Given the description of an element on the screen output the (x, y) to click on. 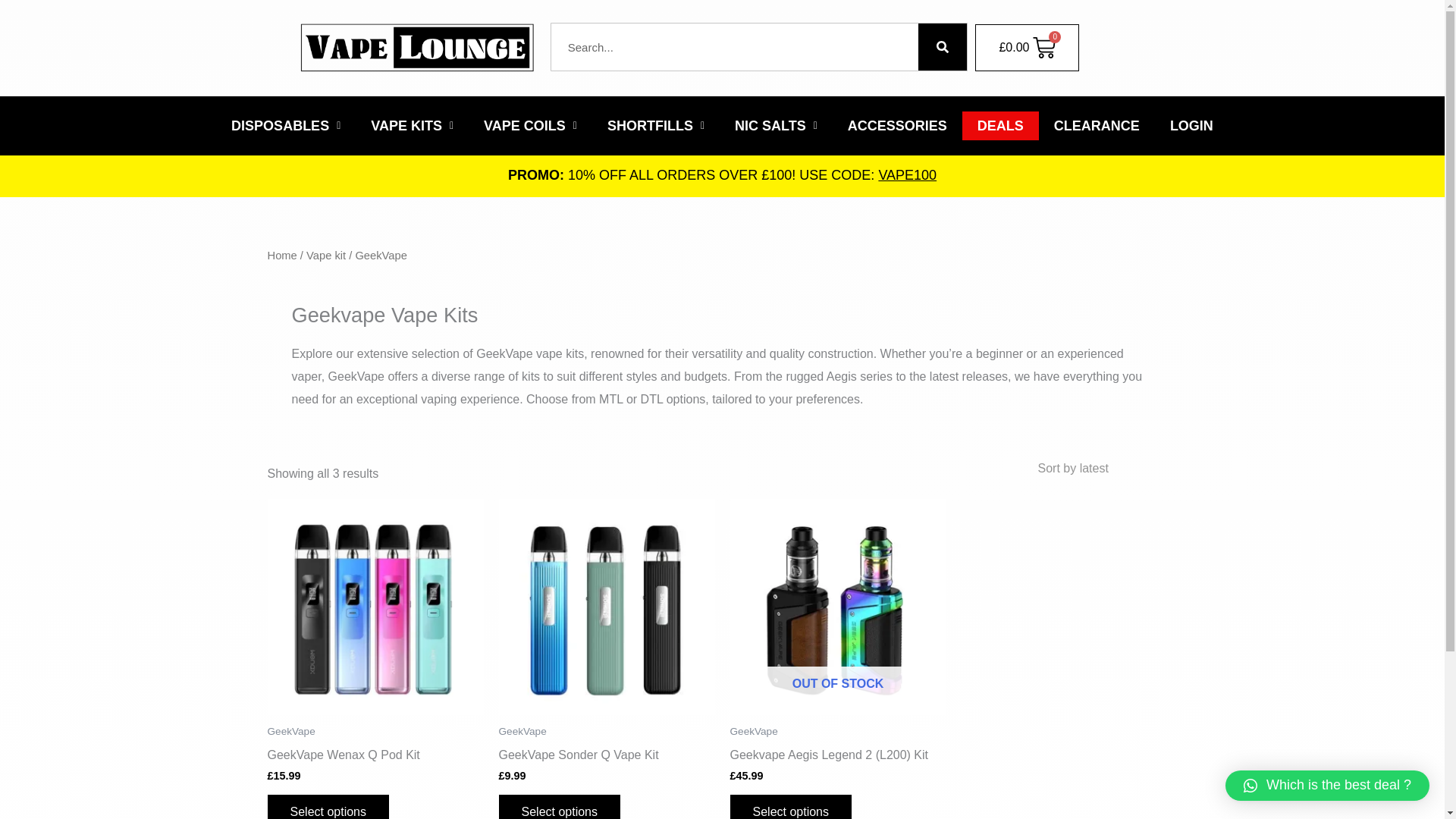
VAPE COILS (530, 125)
DISPOSABLES (285, 125)
VAPE KITS (411, 125)
Search (942, 46)
SHORTFILLS (655, 125)
